Given the description of an element on the screen output the (x, y) to click on. 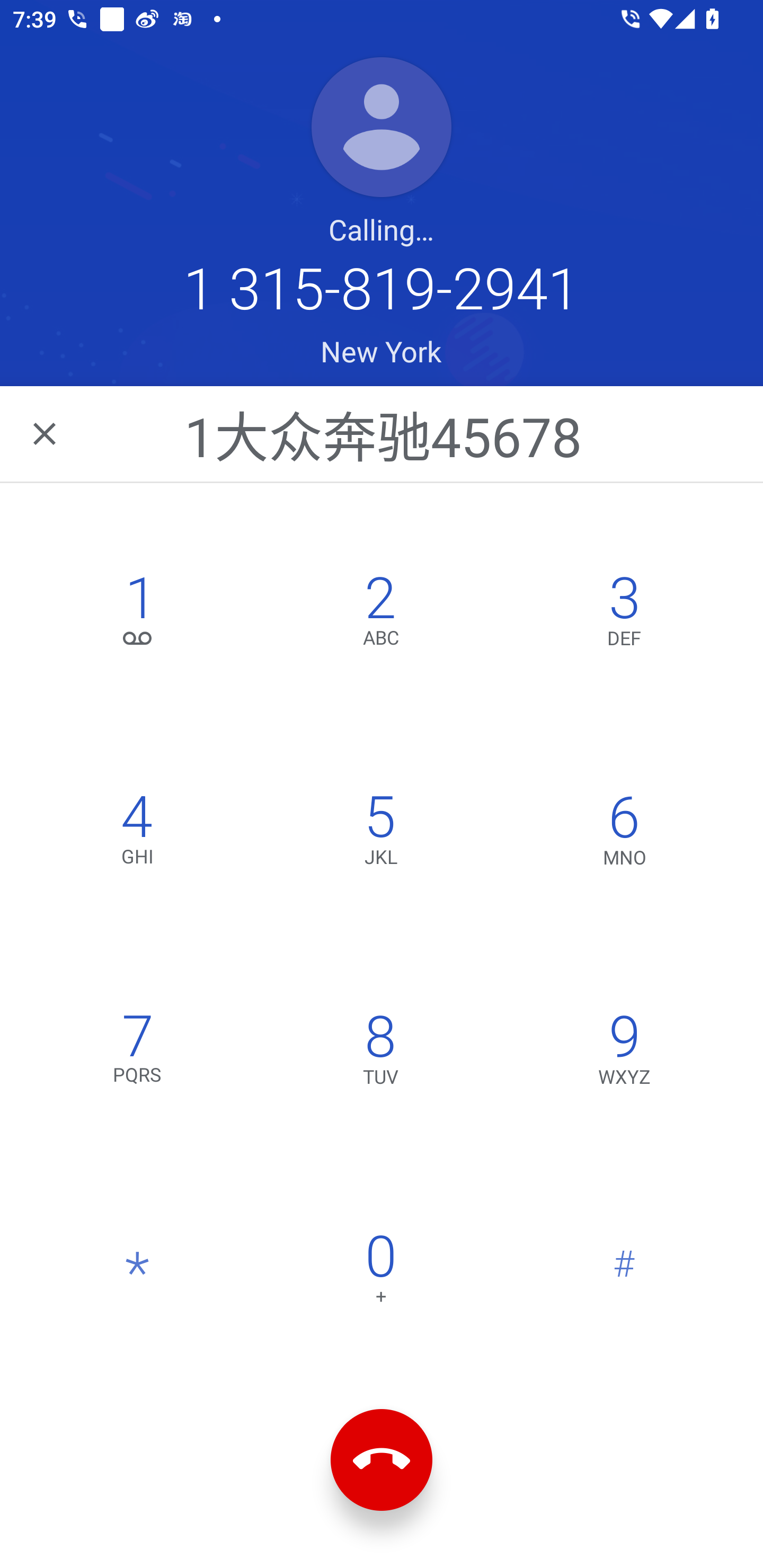
1大众奔驰45678 (382, 433)
Navigate back (45, 433)
1, 1 (137, 614)
2,ABC 2 ABC (380, 614)
3,DEF 3 DEF (624, 614)
4,GHI 4 GHI (137, 833)
5,JKL 5 JKL (380, 833)
6,MNO 6 MNO (624, 833)
7,PQRS 7 PQRS (137, 1053)
8,TUV 8 TUV (380, 1053)
9,WXYZ 9 WXYZ (624, 1053)
* (137, 1272)
0 0 + (380, 1272)
# (624, 1272)
End call (381, 1460)
